Given the description of an element on the screen output the (x, y) to click on. 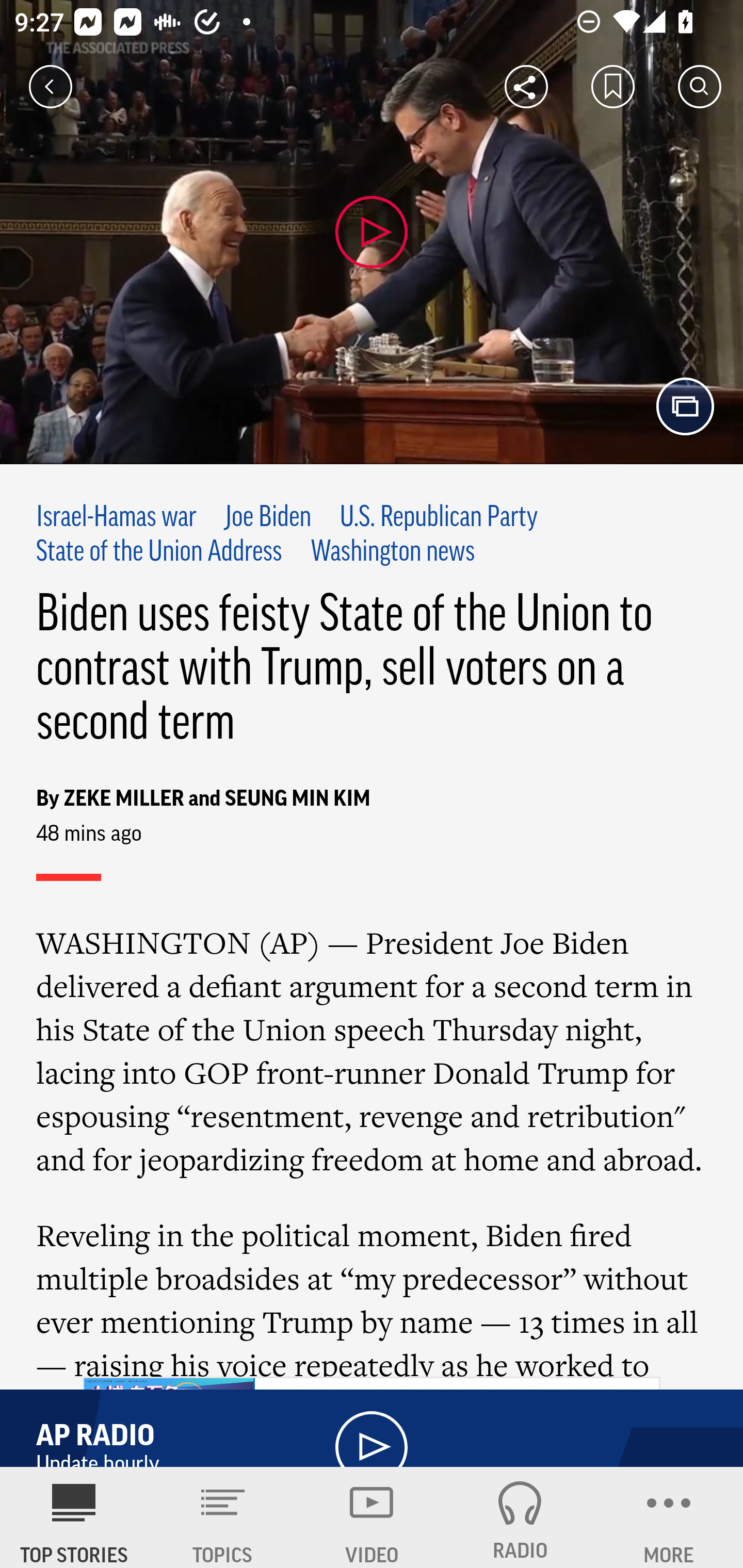
Israel-Hamas war (117, 518)
Joe Biden (267, 518)
U.S. Republican Party (438, 518)
State of the Union Address (159, 552)
Washington news (393, 552)
AP News TOP STORIES (74, 1517)
TOPICS (222, 1517)
VIDEO (371, 1517)
RADIO (519, 1517)
MORE (668, 1517)
